Given the description of an element on the screen output the (x, y) to click on. 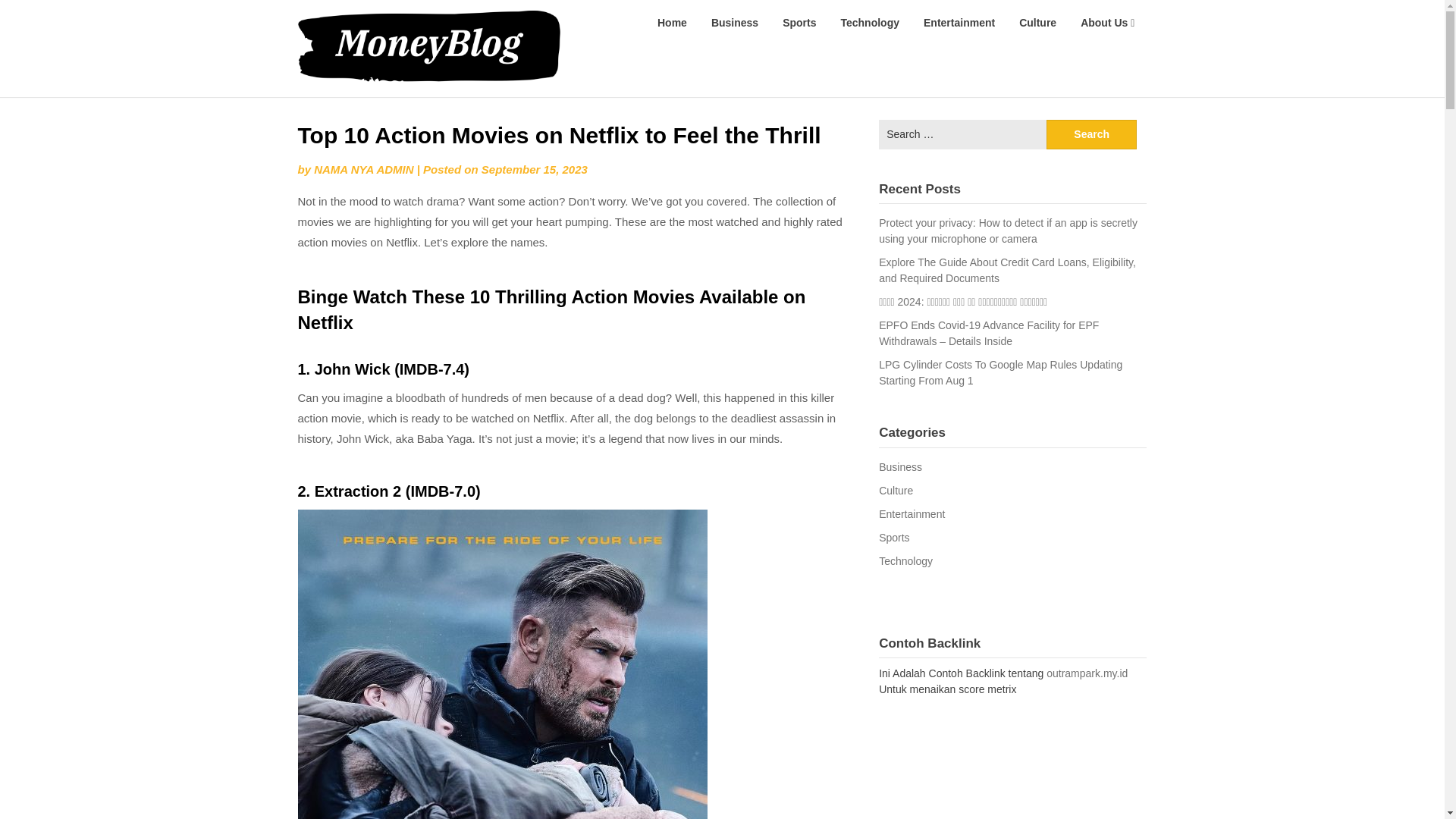
September 15, 2023 (534, 169)
Search (1091, 134)
About Us (1107, 22)
Culture (1037, 22)
NAMA NYA ADMIN (363, 169)
Search (1091, 134)
Business (734, 22)
rafflesplace.my.id (638, 21)
Entertainment (959, 22)
Search (1091, 134)
Sports (799, 22)
Technology (869, 22)
Home (671, 22)
